Given the description of an element on the screen output the (x, y) to click on. 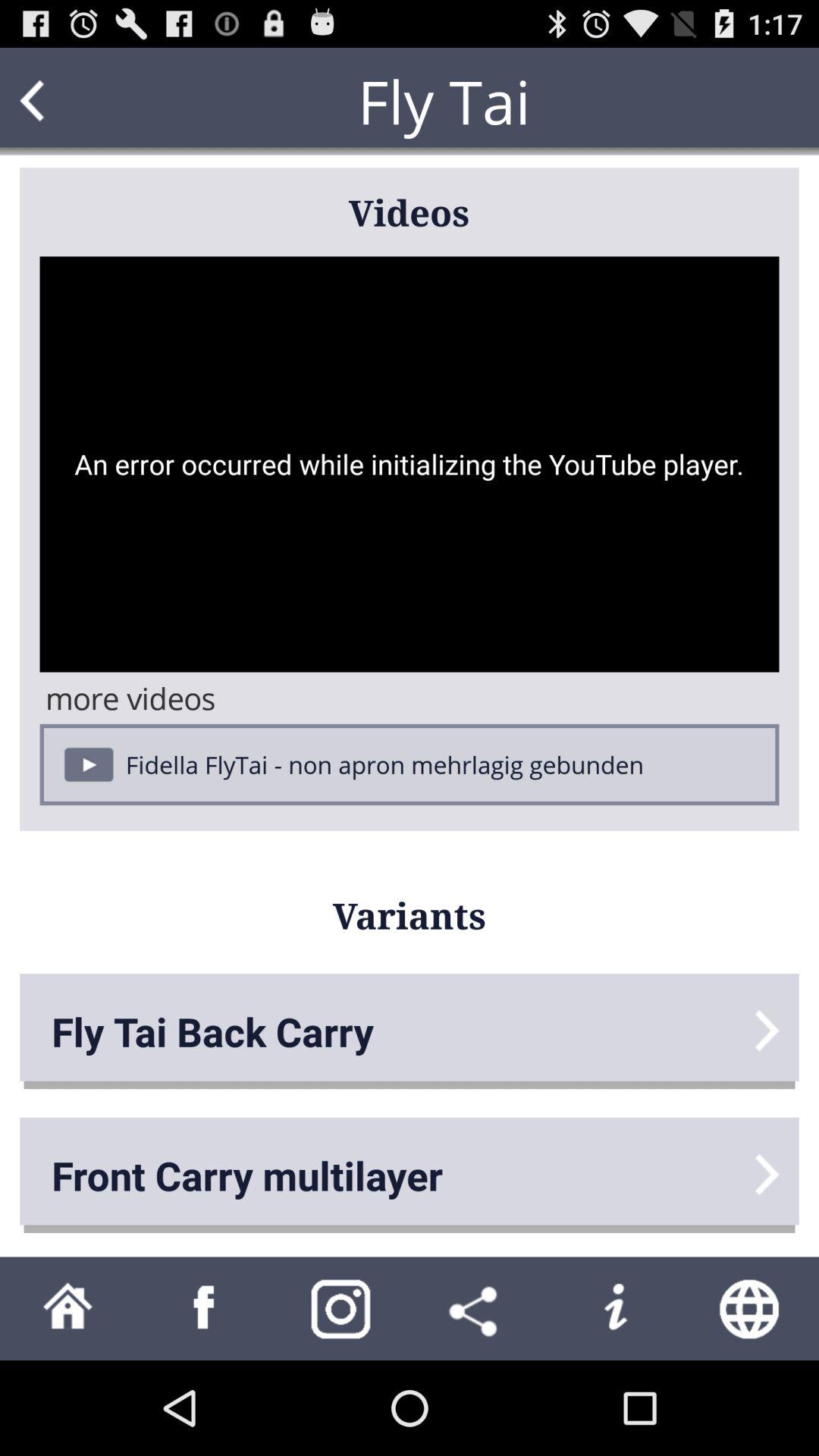
share on instagram (341, 1308)
